Given the description of an element on the screen output the (x, y) to click on. 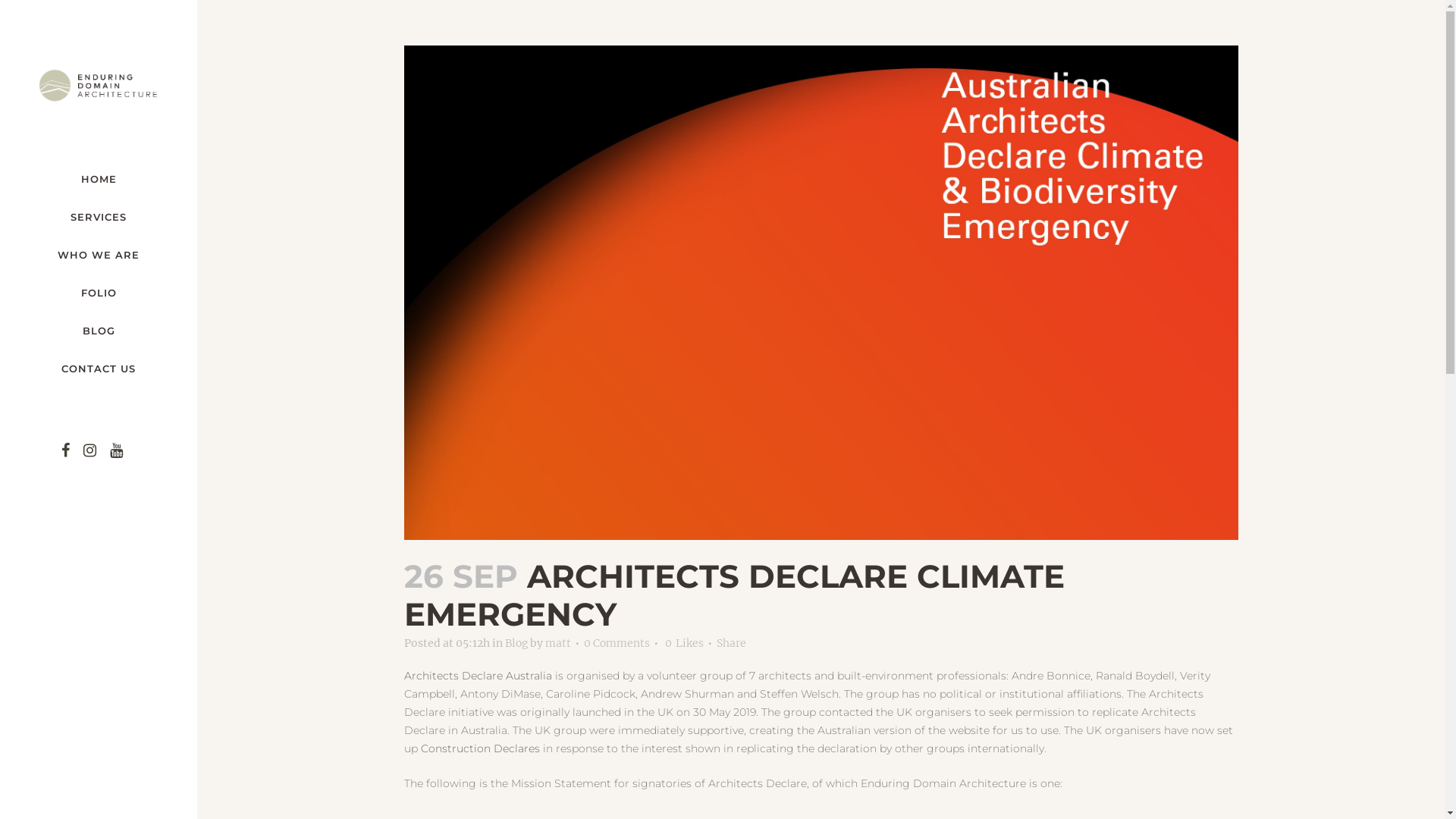
WHO WE ARE Element type: text (98, 254)
Blog Element type: text (516, 642)
0 Comments Element type: text (616, 642)
CONTACT US Element type: text (98, 368)
Blog Element type: text (828, 668)
Who We Are Element type: text (828, 621)
Home Element type: text (828, 574)
HOME Element type: text (98, 178)
SERVICES Element type: text (98, 216)
Share Element type: text (730, 642)
Services Element type: text (828, 598)
0 Likes Element type: text (683, 642)
0420 397 887 Element type: text (1011, 733)
hello@enduringdomain.com.au Element type: text (1059, 684)
Construction Declares Element type: text (479, 748)
Tech Studio Element type: text (1012, 798)
Contact Us Element type: text (828, 715)
matt Element type: text (557, 642)
BLOG Element type: text (98, 330)
FOLIO Element type: text (98, 292)
Architects Declare Australia Element type: text (477, 675)
FAQ Element type: text (828, 692)
Folio Element type: text (828, 645)
